Given the description of an element on the screen output the (x, y) to click on. 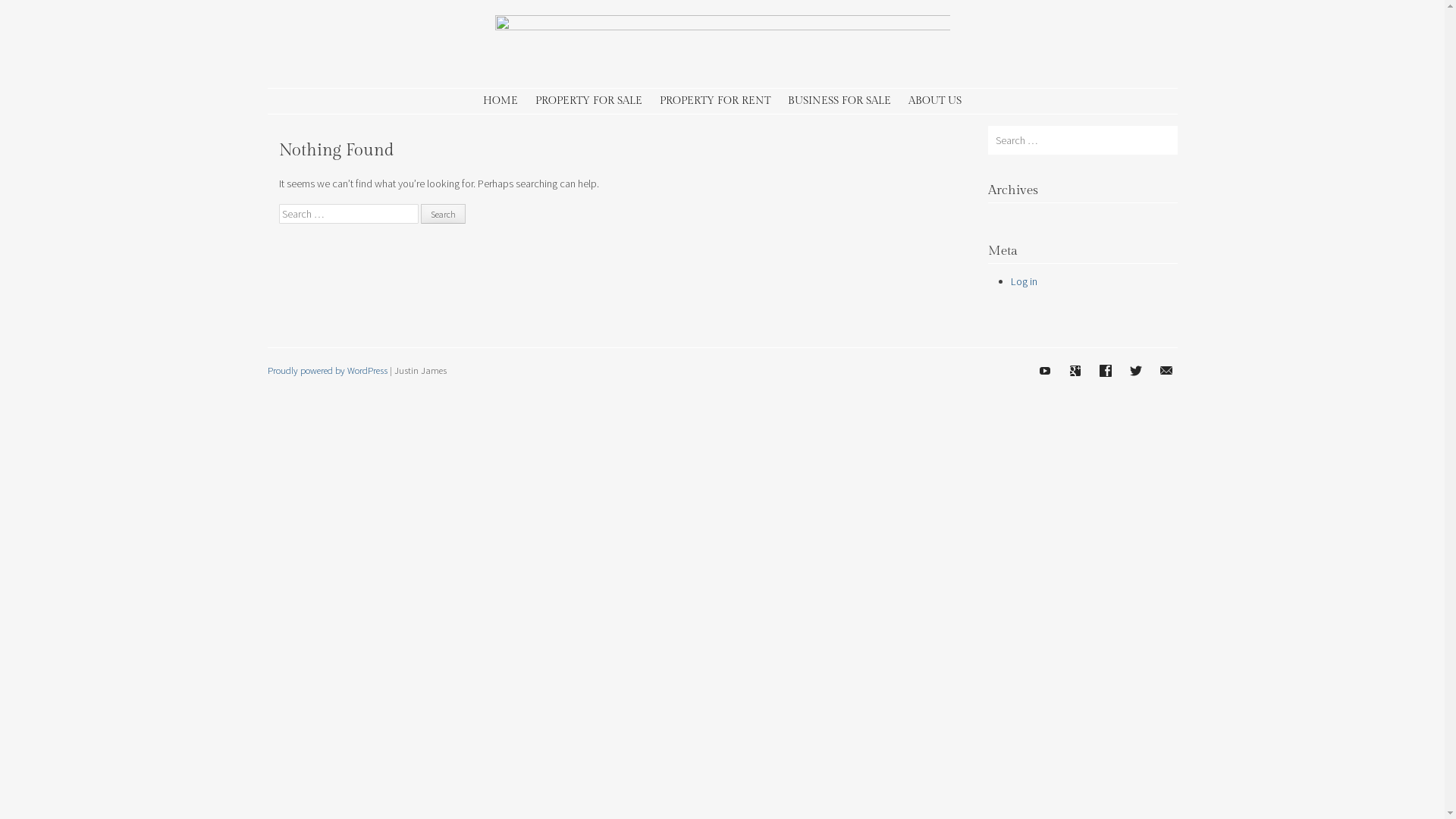
Twitter Element type: text (1134, 370)
SKIP TO CONTENT Element type: text (321, 100)
JUSTIN JAMES Element type: text (587, 51)
PROPERTY FOR SALE Element type: text (588, 100)
BUSINESS FOR SALE Element type: text (839, 100)
Proudly powered by WordPress Element type: text (326, 370)
Search Element type: text (442, 213)
PROPERTY FOR RENT Element type: text (715, 100)
Google Plus Element type: text (1074, 370)
Email Element type: text (1165, 370)
ABOUT US Element type: text (934, 100)
Log in Element type: text (1023, 281)
Justin James Element type: hover (721, 25)
Facebook Element type: text (1104, 370)
HOME Element type: text (500, 100)
Search Element type: text (22, 9)
YouTube Element type: text (1043, 370)
